Given the description of an element on the screen output the (x, y) to click on. 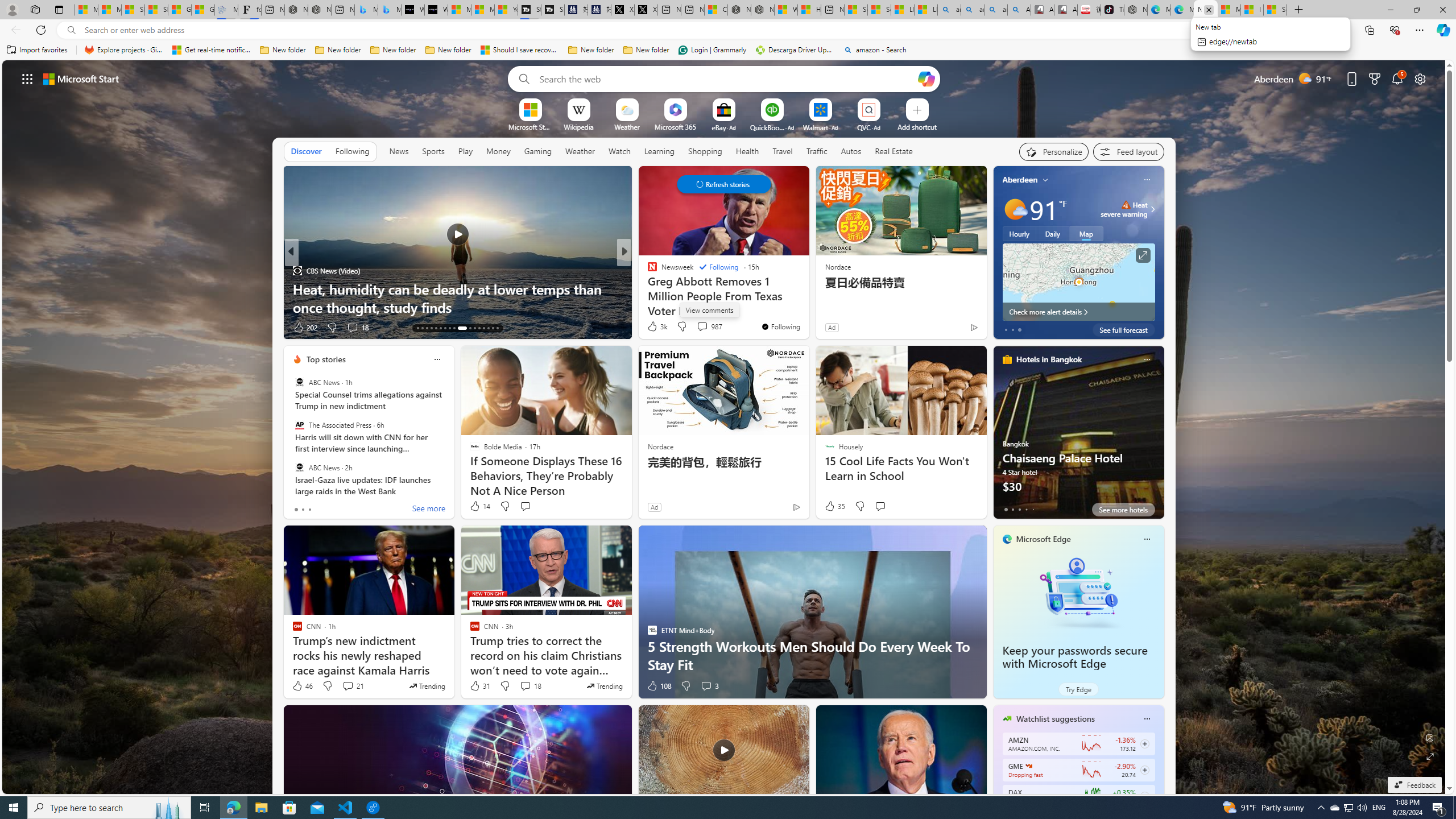
Traffic (816, 151)
Login | Grammarly (712, 49)
View comments 3 Comment (709, 685)
FOX News (647, 270)
View comments 18 Comment (525, 685)
Travel (782, 151)
Real Estate (893, 151)
View comments 52 Comment (698, 327)
Click to see more information (1142, 255)
Wikipedia (578, 126)
Collections (1369, 29)
AutomationID: tab-16 (431, 328)
AutomationID: tab-28 (492, 328)
View comments 2 Comment (698, 327)
